Given the description of an element on the screen output the (x, y) to click on. 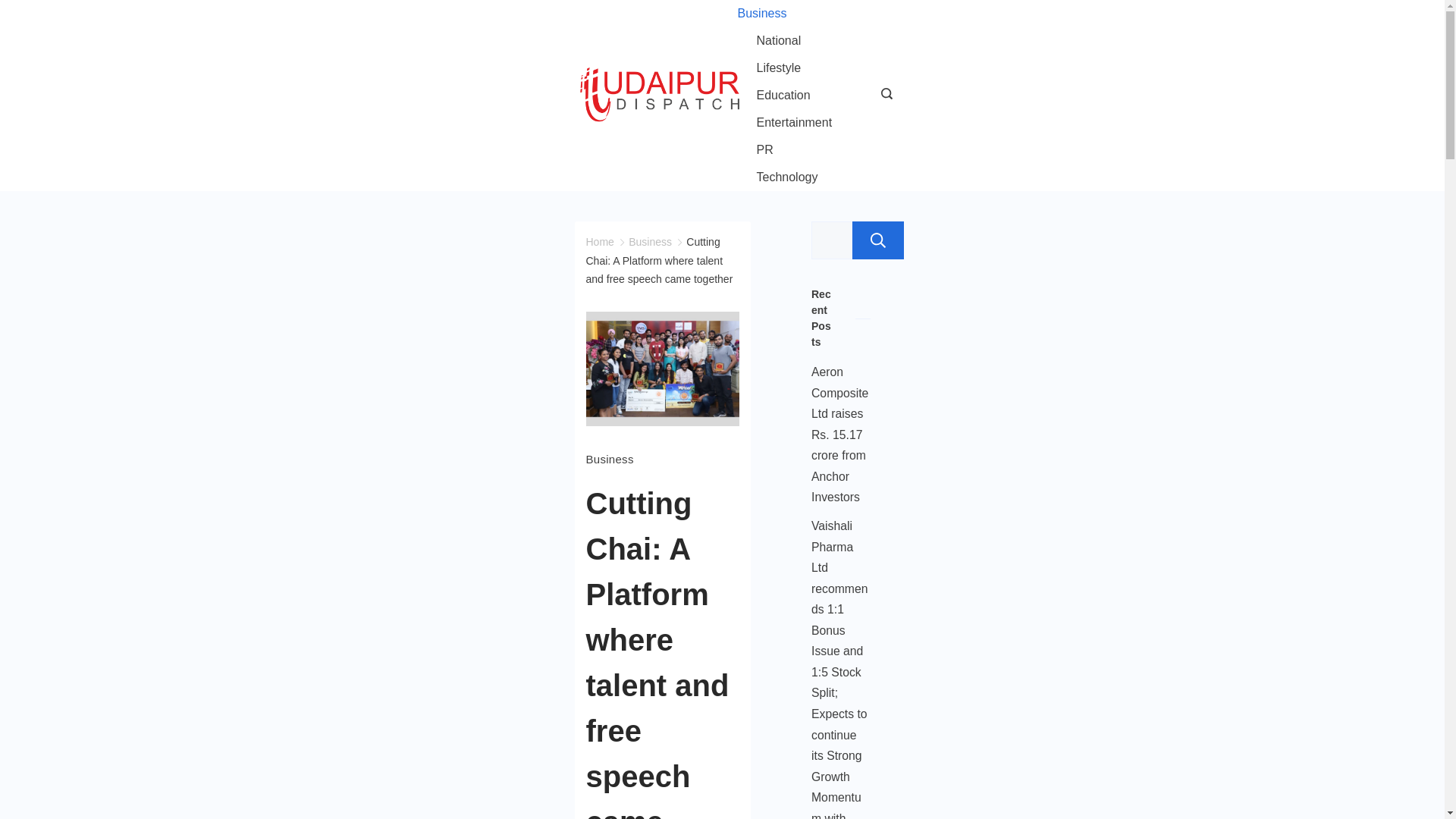
National (777, 40)
Entertainment (793, 122)
Education (782, 94)
Business (649, 241)
Lifestyle (777, 67)
Business (609, 459)
PR (764, 149)
Business (770, 13)
Home (598, 241)
Technology (776, 176)
